Given the description of an element on the screen output the (x, y) to click on. 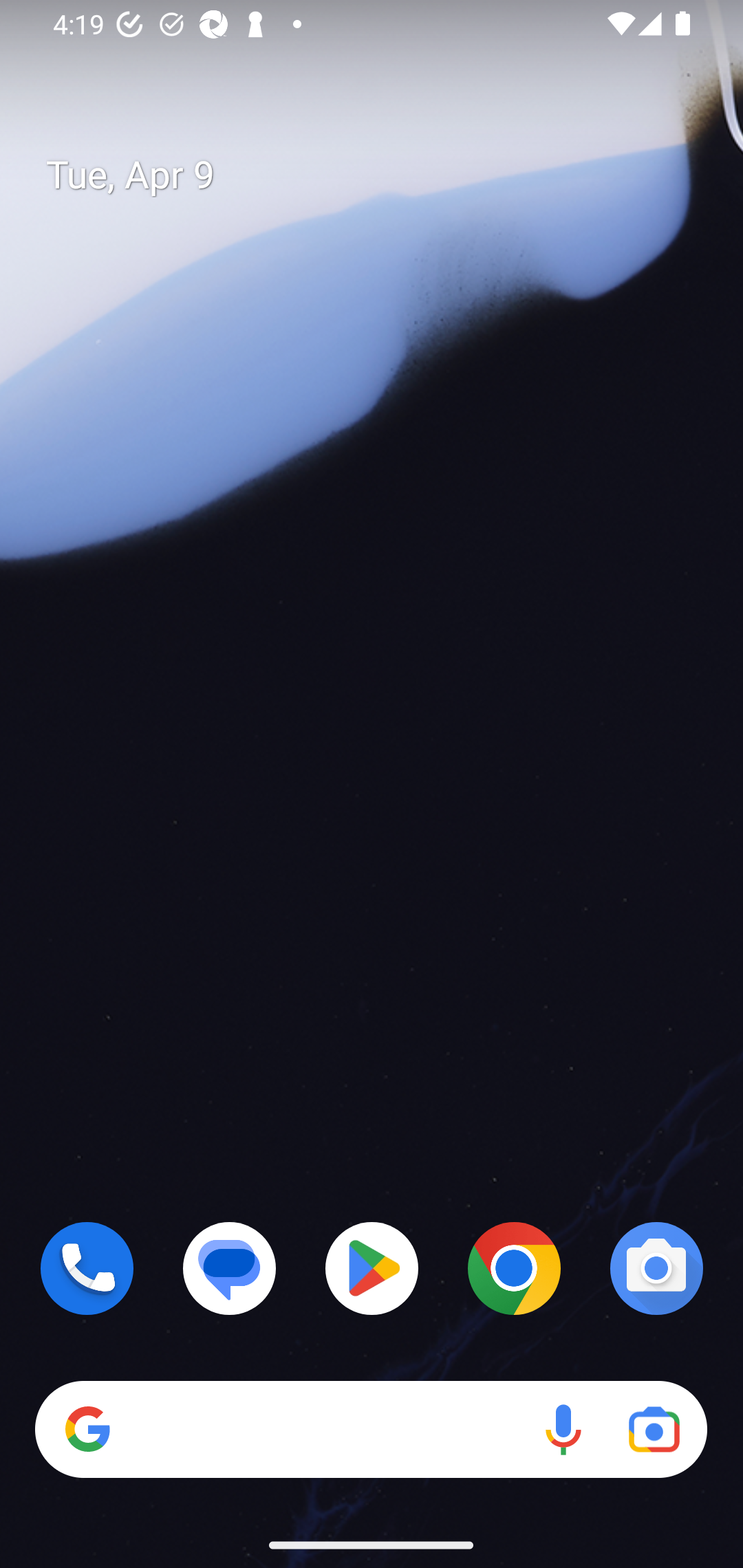
Tue, Apr 9 (386, 175)
Phone (86, 1268)
Messages (229, 1268)
Play Store (371, 1268)
Chrome (513, 1268)
Camera (656, 1268)
Voice search (562, 1429)
Google Lens (653, 1429)
